Given the description of an element on the screen output the (x, y) to click on. 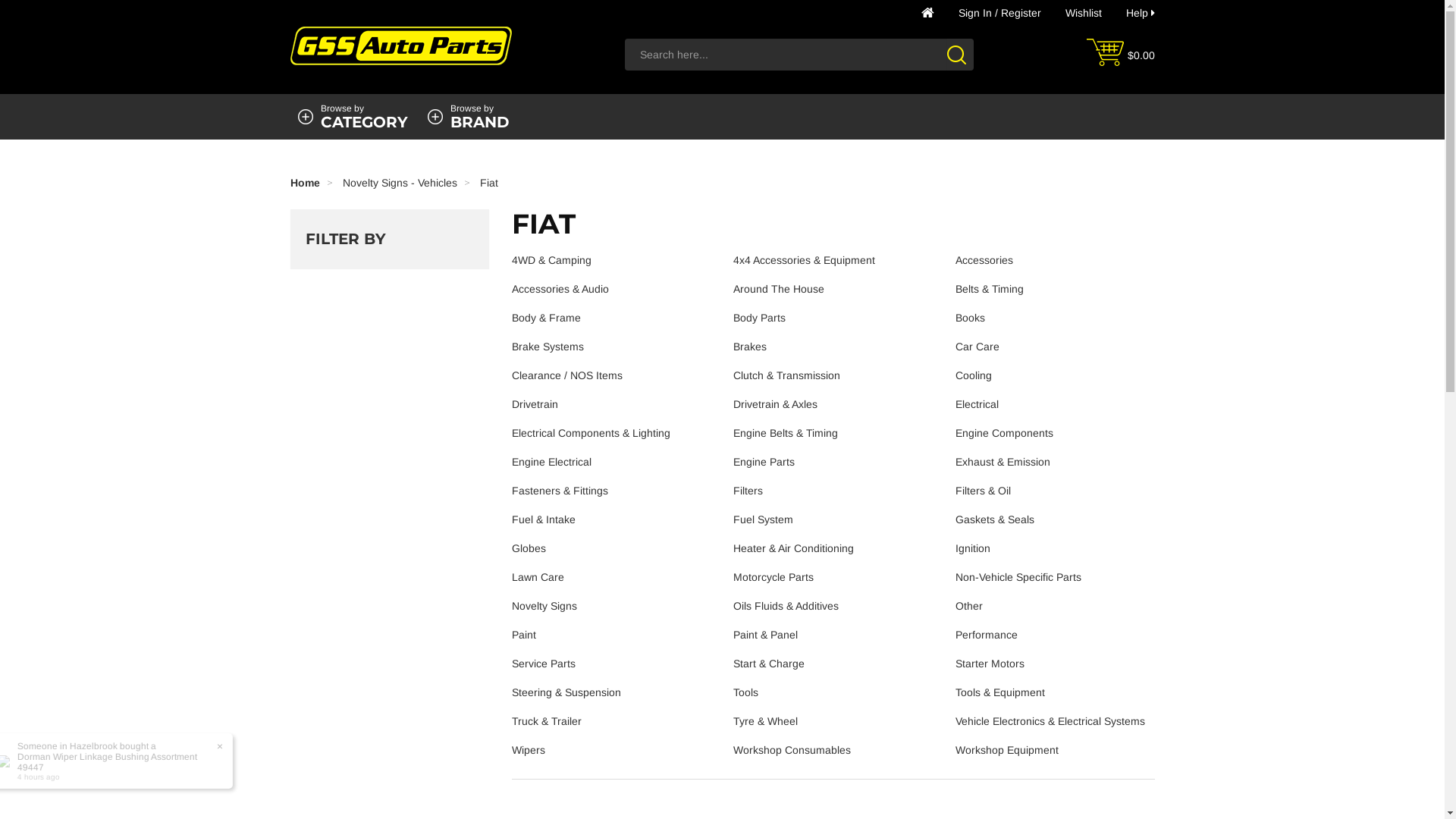
Around The House Element type: text (778, 288)
Filters Element type: text (747, 490)
Starter Motors Element type: text (989, 663)
Brake Systems Element type: text (547, 346)
Cooling Element type: text (973, 375)
Car Care Element type: text (977, 346)
GSS Auto Parts Element type: hover (400, 42)
Fiat Element type: text (488, 182)
Tools Element type: text (745, 692)
Tools & Equipment Element type: text (999, 692)
Globes Element type: text (528, 548)
Lawn Care Element type: text (537, 577)
Engine Components Element type: text (1004, 432)
Ignition Element type: text (972, 548)
Oils Fluids & Additives Element type: text (785, 605)
Fasteners & Fittings Element type: text (559, 490)
Search Element type: text (959, 54)
$0.00 Element type: text (1140, 54)
Service Parts Element type: text (543, 663)
Belts & Timing Element type: text (989, 288)
Start & Charge Element type: text (768, 663)
Brakes Element type: text (749, 346)
Truck & Trailer Element type: text (546, 721)
Workshop Consumables Element type: text (791, 749)
Novelty Signs - Vehicles Element type: text (399, 182)
Wipers Element type: text (528, 749)
Home Element type: text (304, 182)
Performance Element type: text (986, 634)
Electrical Element type: text (976, 404)
Help Element type: text (1139, 12)
Engine Electrical Element type: text (551, 461)
4x4 Accessories & Equipment Element type: text (804, 260)
Engine Belts & Timing Element type: text (785, 432)
Steering & Suspension Element type: text (566, 692)
Accessories & Audio Element type: text (559, 288)
Exhaust & Emission Element type: text (1002, 461)
Wishlist Element type: text (1082, 12)
4WD & Camping Element type: text (551, 260)
Register Element type: text (1021, 12)
Novelty Signs Element type: text (544, 605)
Home Element type: hover (926, 12)
Body & Frame Element type: text (545, 317)
Clearance / NOS Items Element type: text (566, 375)
Books Element type: text (970, 317)
FILTER BY Element type: text (388, 238)
Body Parts Element type: text (759, 317)
Filters & Oil Element type: text (982, 490)
Motorcycle Parts Element type: text (773, 577)
Heater & Air Conditioning Element type: text (793, 548)
Browse by
BRAND Element type: text (479, 116)
Sign In Element type: text (974, 12)
Accessories Element type: text (984, 260)
Fuel System Element type: text (763, 519)
Paint & Panel Element type: text (765, 634)
Engine Parts Element type: text (763, 461)
Clutch & Transmission Element type: text (786, 375)
Non-Vehicle Specific Parts Element type: text (1018, 577)
Tyre & Wheel Element type: text (765, 721)
Fuel & Intake Element type: text (543, 519)
Gaskets & Seals Element type: text (994, 519)
Electrical Components & Lighting Element type: text (590, 432)
Drivetrain & Axles Element type: text (775, 404)
Workshop Equipment Element type: text (1006, 749)
Drivetrain Element type: text (534, 404)
Other Element type: text (968, 605)
Vehicle Electronics & Electrical Systems Element type: text (1050, 721)
Paint Element type: text (523, 634)
